Given the description of an element on the screen output the (x, y) to click on. 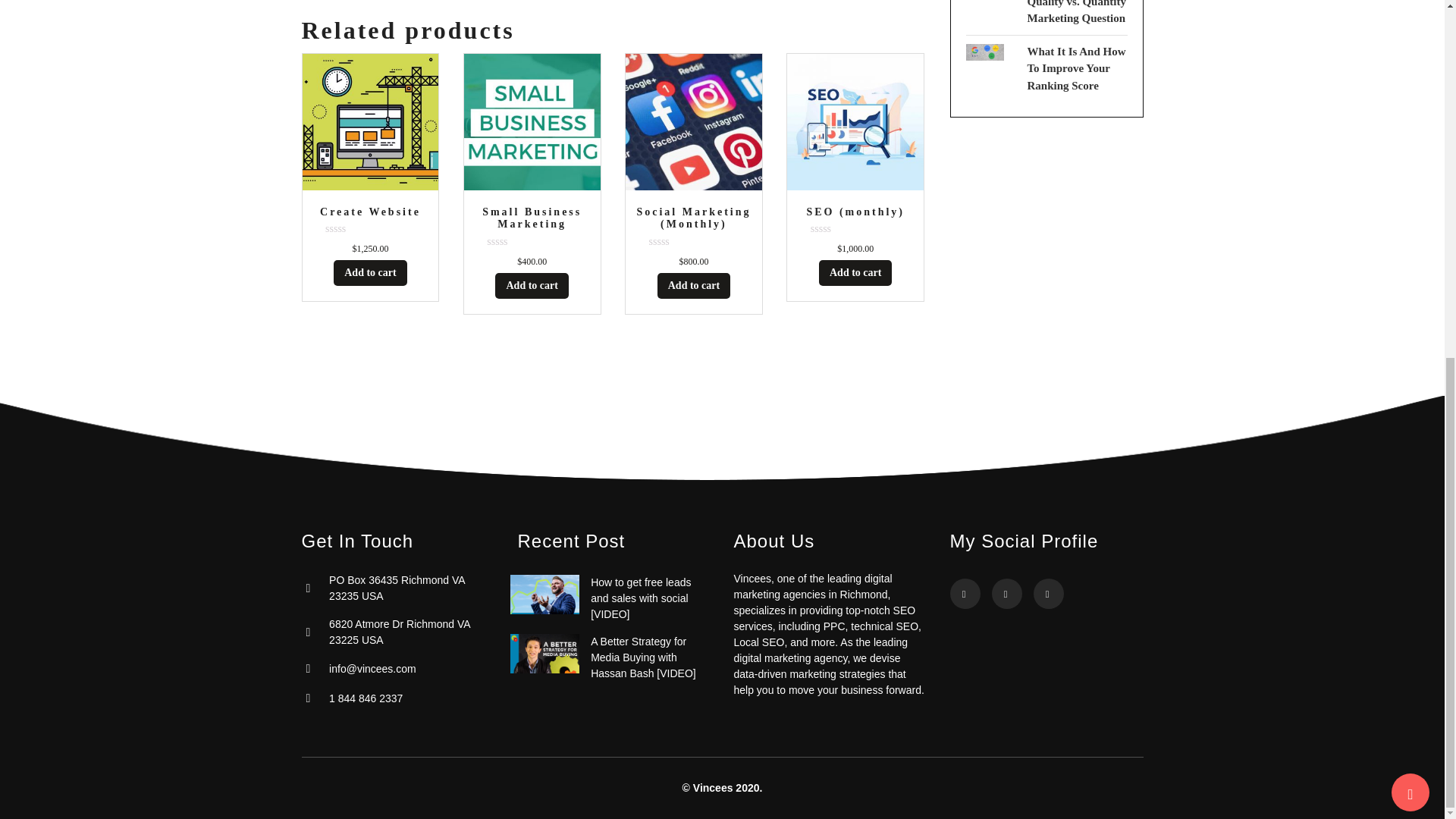
What It Is And How To Improve Your Ranking Score (1075, 68)
Add to cart (694, 285)
Add to cart (369, 272)
Add to cart (531, 285)
The Answer to the Quality vs. Quantity Marketing Question (1075, 12)
Add to cart (854, 272)
